Given the description of an element on the screen output the (x, y) to click on. 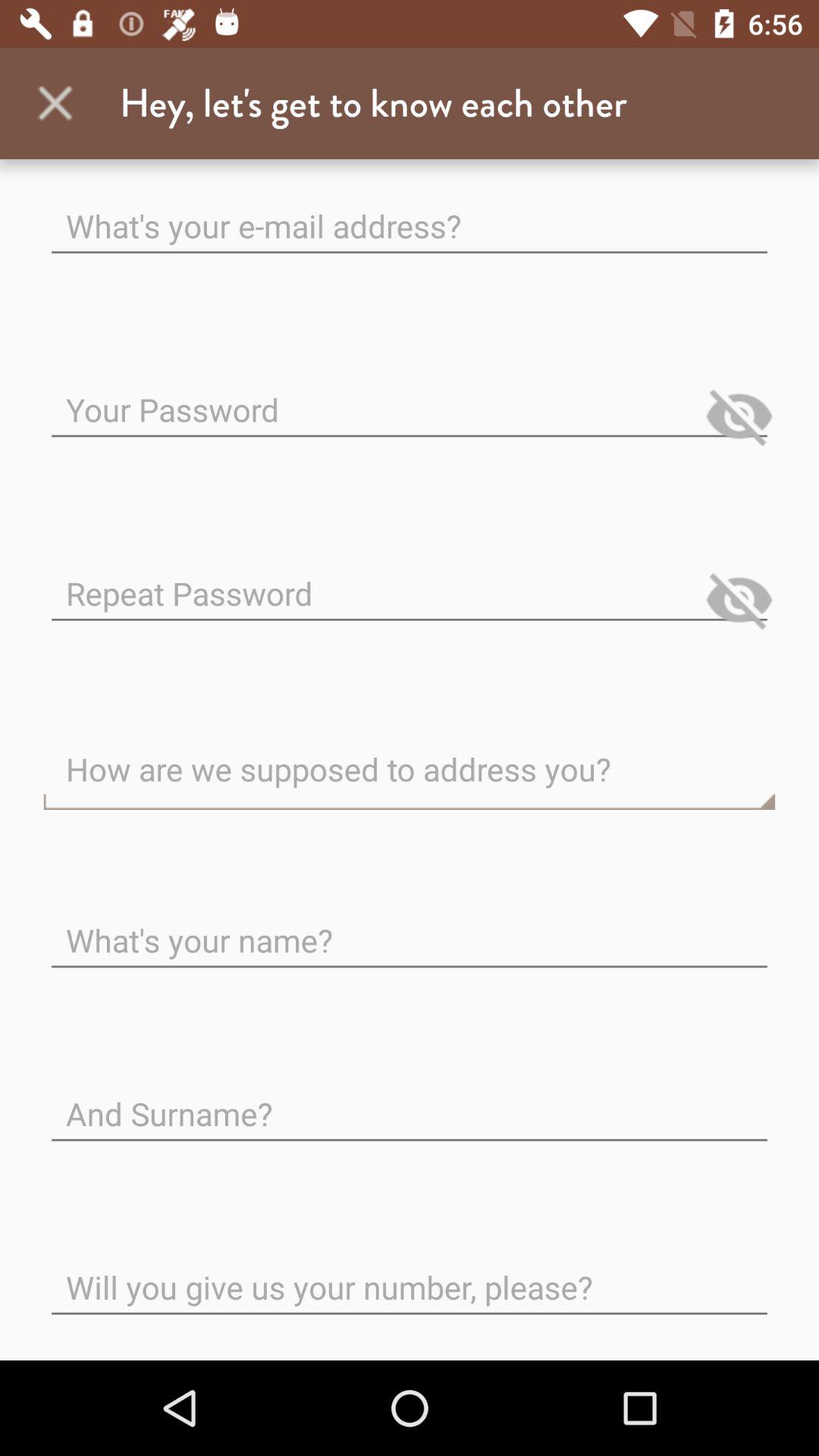
name bar (409, 928)
